Given the description of an element on the screen output the (x, y) to click on. 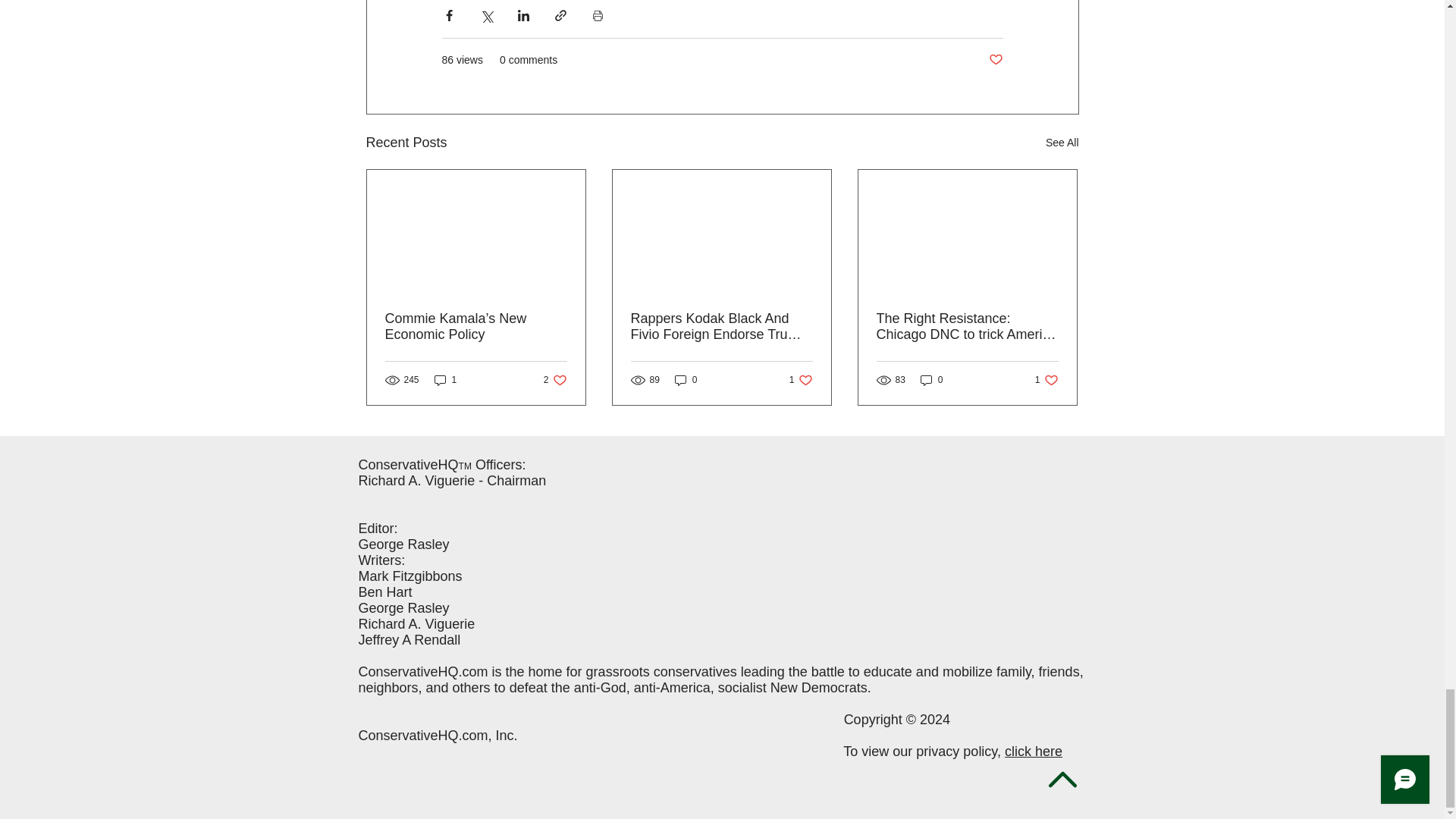
Post not marked as liked (995, 59)
See All (1061, 142)
1 (555, 380)
